Given the description of an element on the screen output the (x, y) to click on. 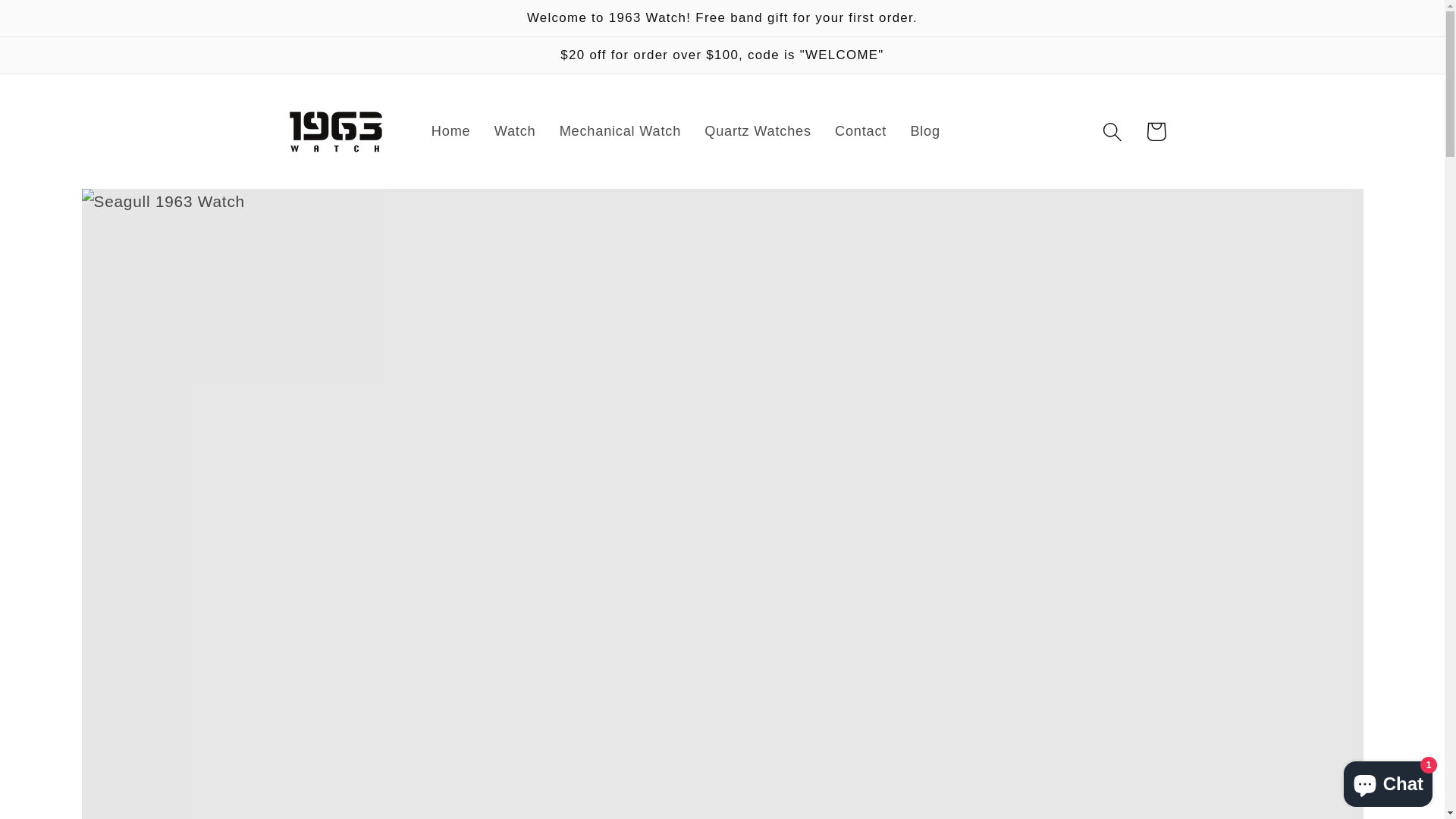
Cart Element type: text (1155, 131)
Blog Element type: text (925, 131)
Quartz Watches Element type: text (758, 131)
Watch Element type: text (514, 131)
Mechanical Watch Element type: text (620, 131)
Home Element type: text (450, 131)
Contact Element type: text (859, 131)
Shopify online store chat Element type: hover (1388, 780)
